Given the description of an element on the screen output the (x, y) to click on. 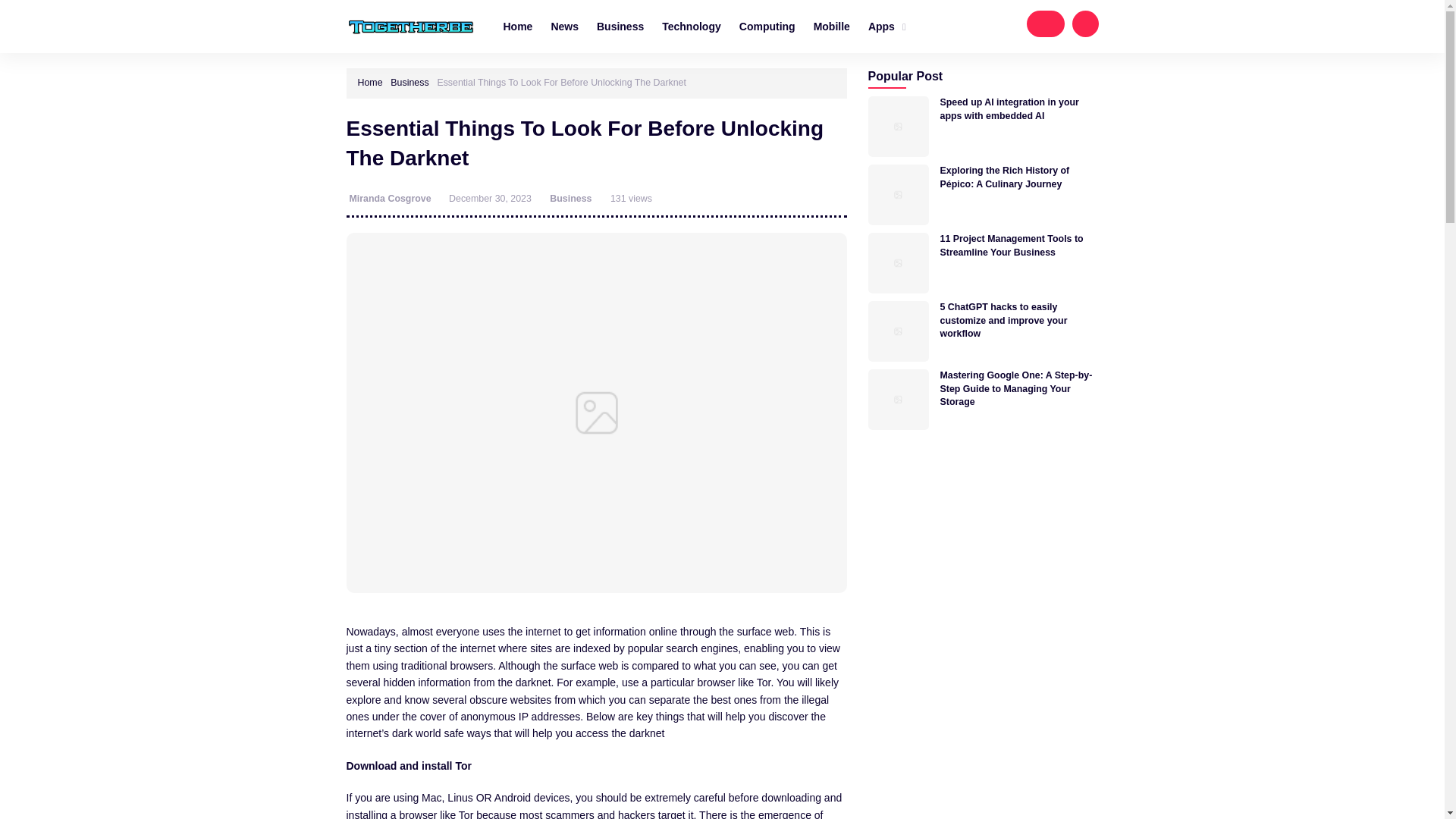
News (564, 26)
Business (409, 81)
Mode Gelap (1045, 23)
Search (1085, 23)
Home (518, 26)
Apps (887, 26)
Mobille (832, 26)
Business (570, 198)
Miranda Cosgrove (391, 198)
Business (620, 26)
Computing (767, 26)
Technology (691, 26)
Home (370, 81)
